Given the description of an element on the screen output the (x, y) to click on. 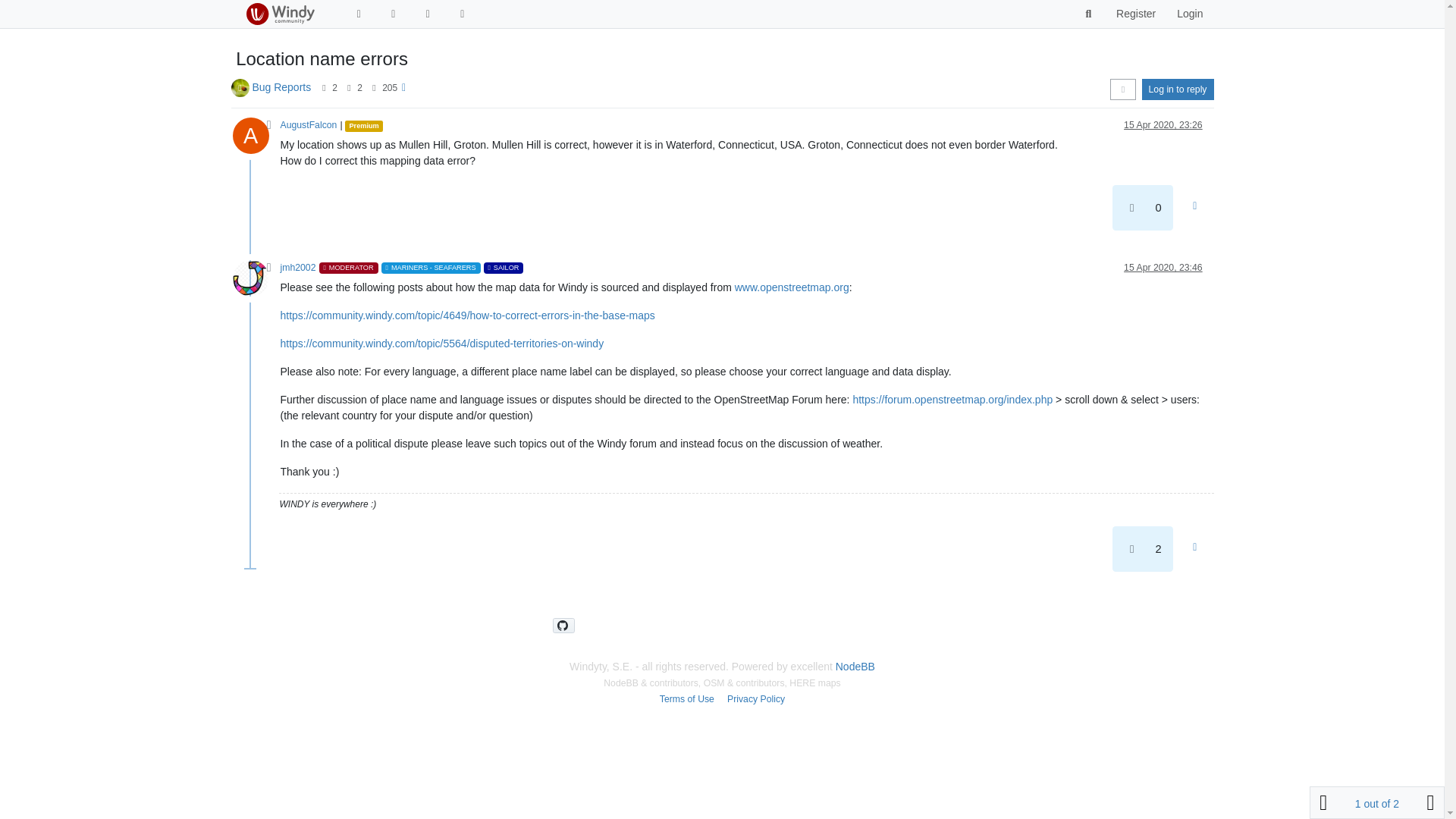
Windy Community (279, 13)
Groups (427, 13)
15 Apr 2020, 23:26 (1163, 124)
AugustFalcon (309, 124)
Posters (324, 87)
A (255, 139)
Register (1135, 13)
Log in to reply (1177, 88)
Unread (357, 13)
Go to windy.com (462, 13)
Bug Reports (281, 87)
Posts (349, 87)
Login (1189, 13)
Categories (392, 13)
Search (1088, 14)
